Given the description of an element on the screen output the (x, y) to click on. 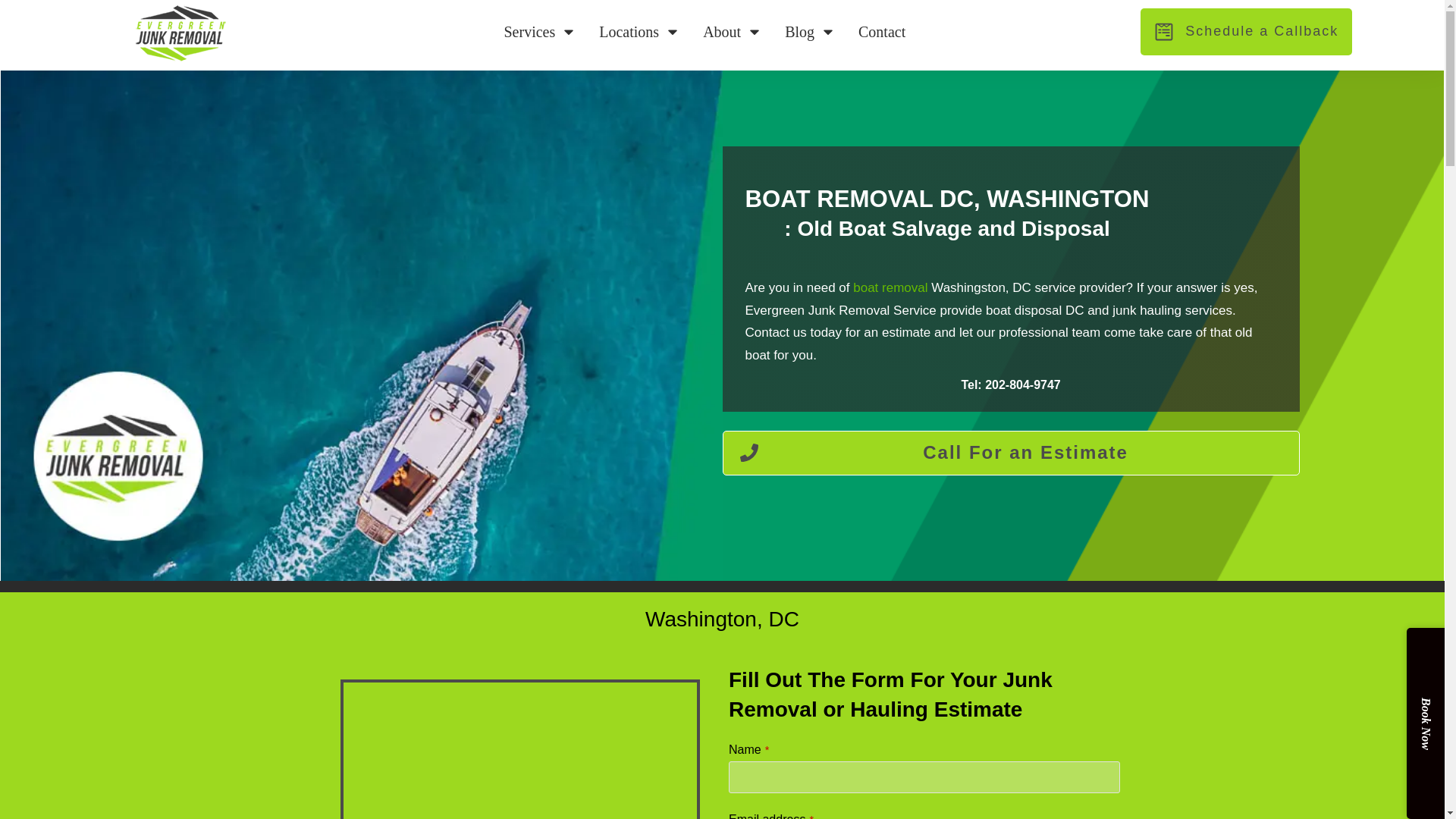
Services (539, 31)
Locations (638, 31)
